Given the description of an element on the screen output the (x, y) to click on. 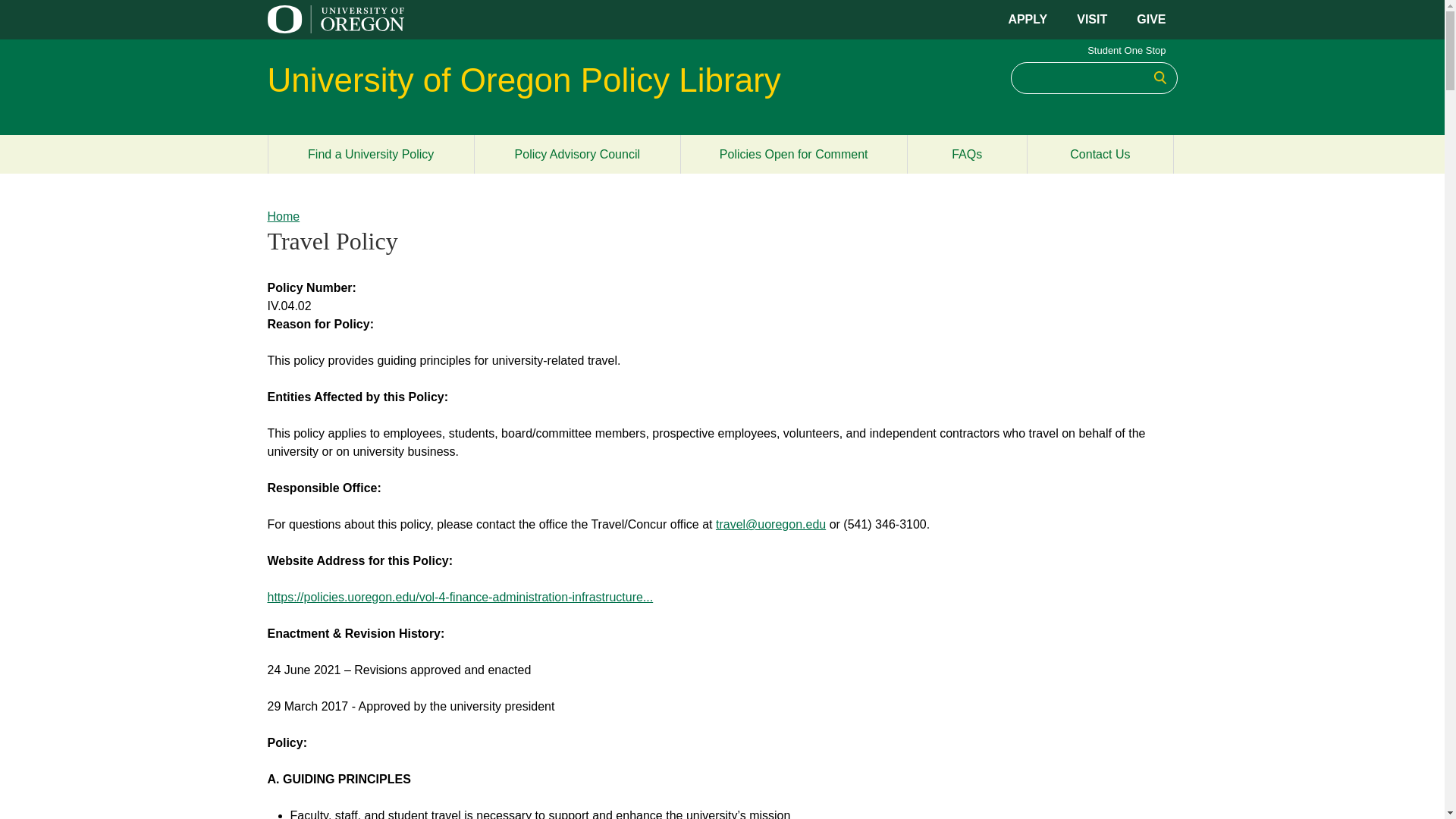
Visit the University of Oregon (1091, 19)
Enter the terms you wish to search for. (1093, 78)
APPLY (1026, 19)
Home (282, 215)
Search (1158, 77)
Find a Policy (369, 154)
FAQs (966, 154)
Apply to the University of Oregon (1026, 19)
VISIT (1091, 19)
Policy Advisory Council (576, 154)
University of Oregon Policy Library (523, 79)
Policies Open for Comment (793, 154)
Find a University Policy (369, 154)
Student One Stop (1126, 50)
FAQs (966, 154)
